Given the description of an element on the screen output the (x, y) to click on. 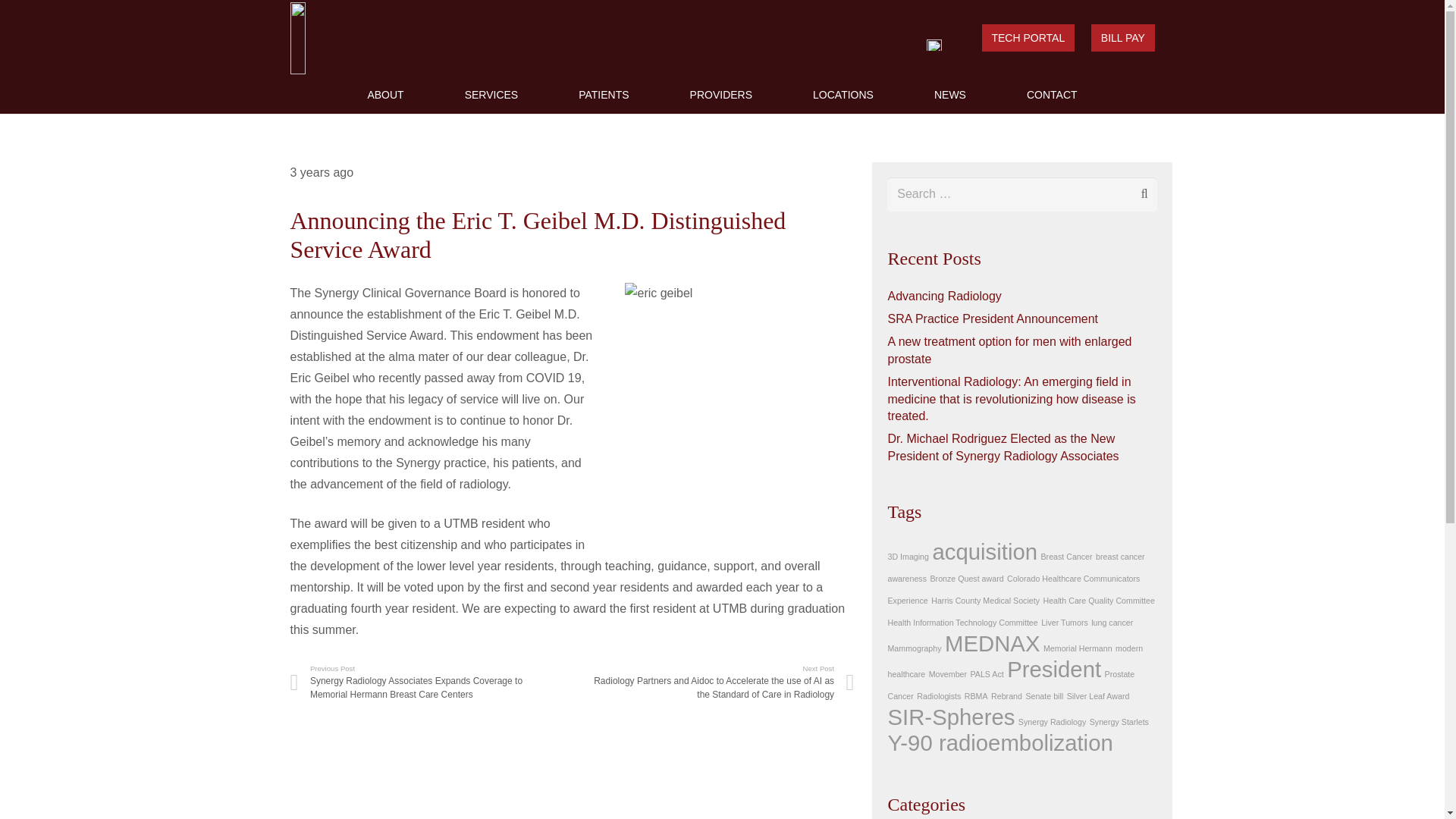
ABOUT (384, 94)
PATIENTS (603, 94)
TECH PORTAL (1027, 37)
SERVICES (490, 94)
BILL PAY (1122, 37)
